Given the description of an element on the screen output the (x, y) to click on. 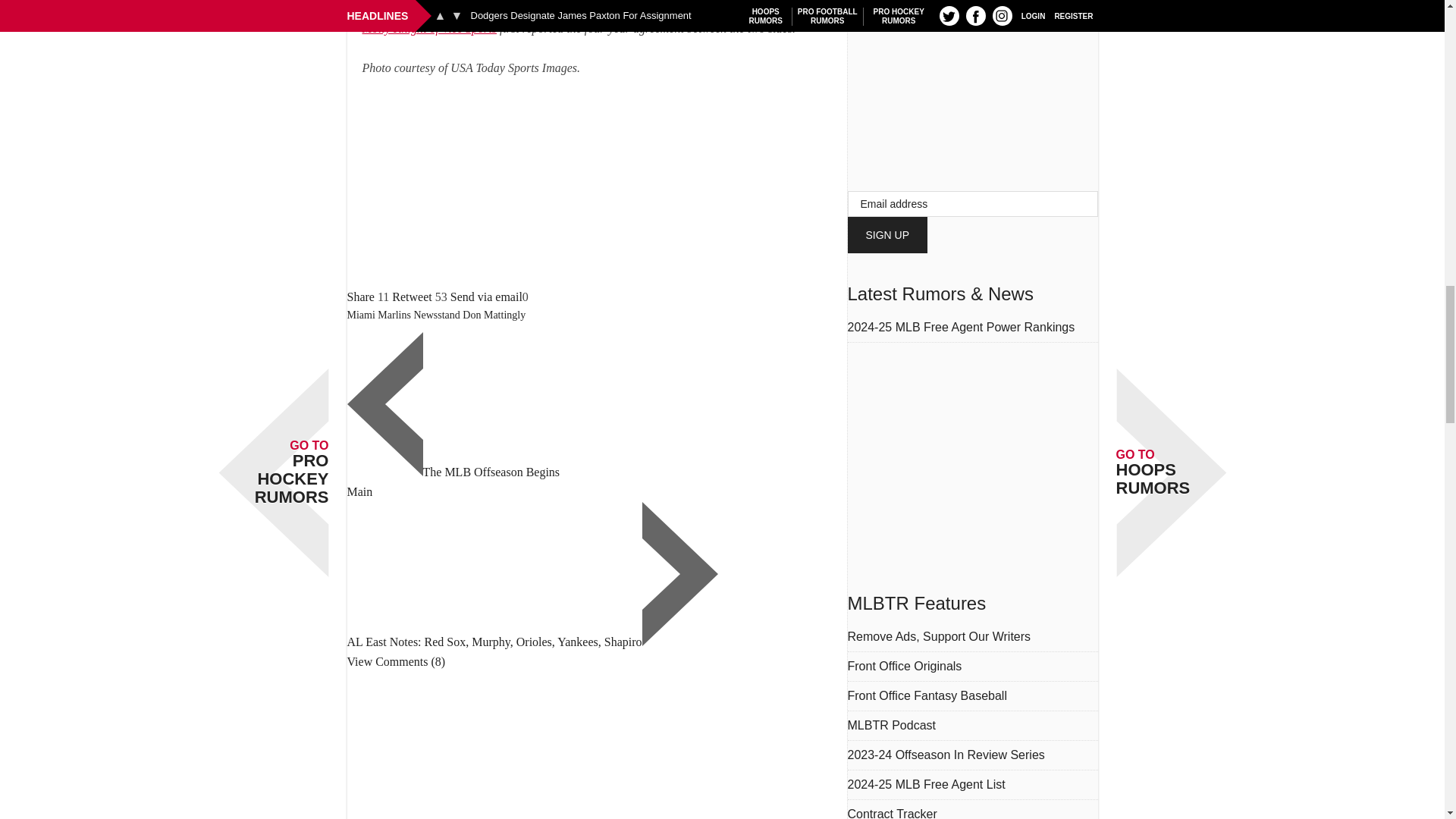
Sign Up (887, 235)
Send Marlins Announce Don Mattingly As Manager with an email (485, 296)
